Given the description of an element on the screen output the (x, y) to click on. 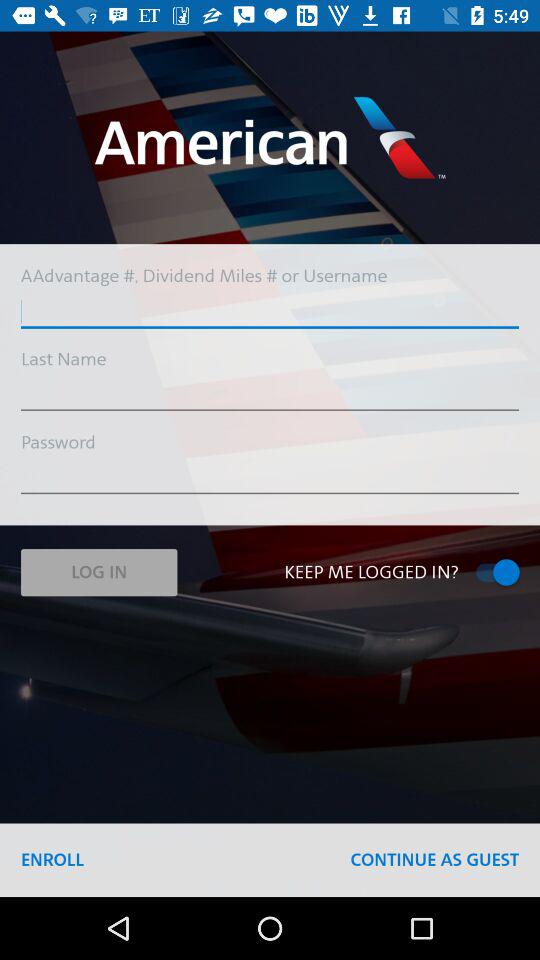
turn off log in (98, 572)
